Given the description of an element on the screen output the (x, y) to click on. 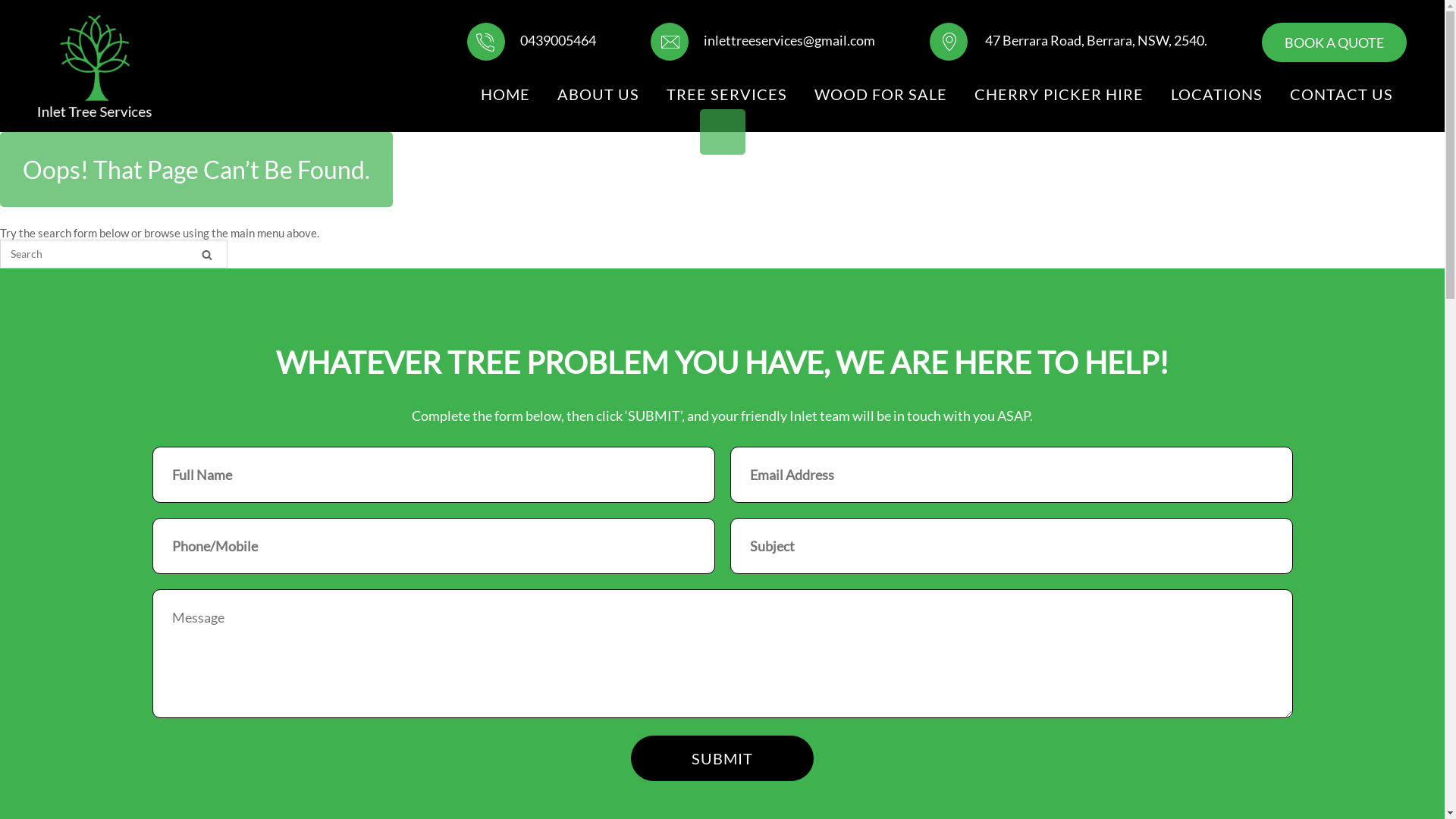
47 Berrara Road, Berrara, NSW, 2540. Element type: text (1068, 39)
BOOK A QUOTE Element type: text (1333, 42)
ABOUT US Element type: text (597, 93)
CONTACT US Element type: text (1341, 93)
LOCATIONS Element type: text (1216, 93)
HOME Element type: text (505, 93)
CHERRY PICKER HIRE Element type: text (1058, 93)
WOOD FOR SALE Element type: text (880, 93)
TREE SERVICES Element type: text (726, 93)
0439005464 Element type: text (531, 39)
Submit Element type: text (721, 758)
inlettreeservices@gmail.com Element type: text (762, 39)
